Given the description of an element on the screen output the (x, y) to click on. 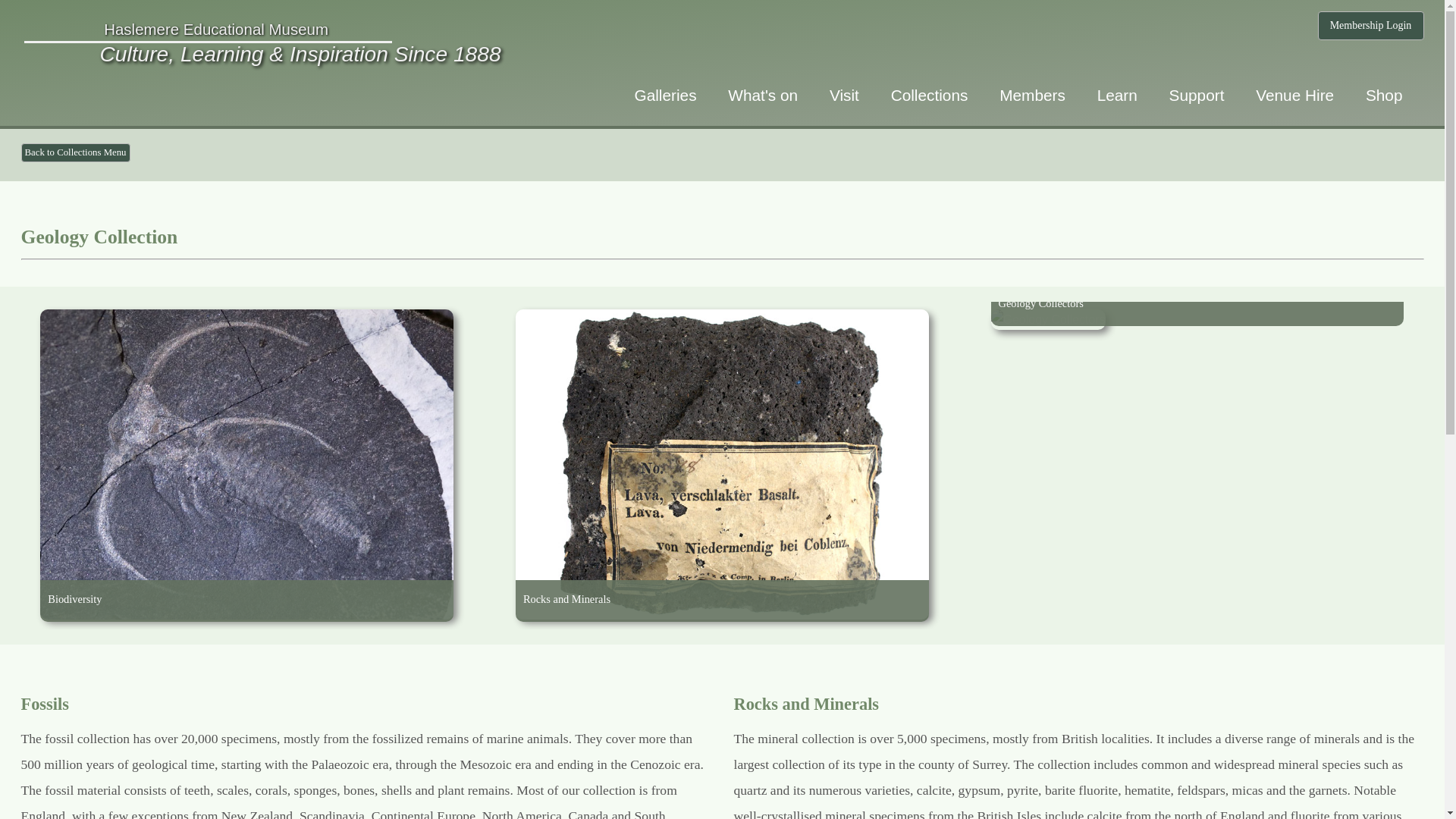
What's on (762, 94)
Back to Collections Menu (76, 152)
Rocks and Minerals (721, 638)
Learn (1117, 94)
Membership Login (1370, 25)
Geology Collectors (1198, 341)
Museum Shop (1384, 94)
Galleries (665, 94)
Biodiversity (246, 638)
Galleries (665, 94)
